Given the description of an element on the screen output the (x, y) to click on. 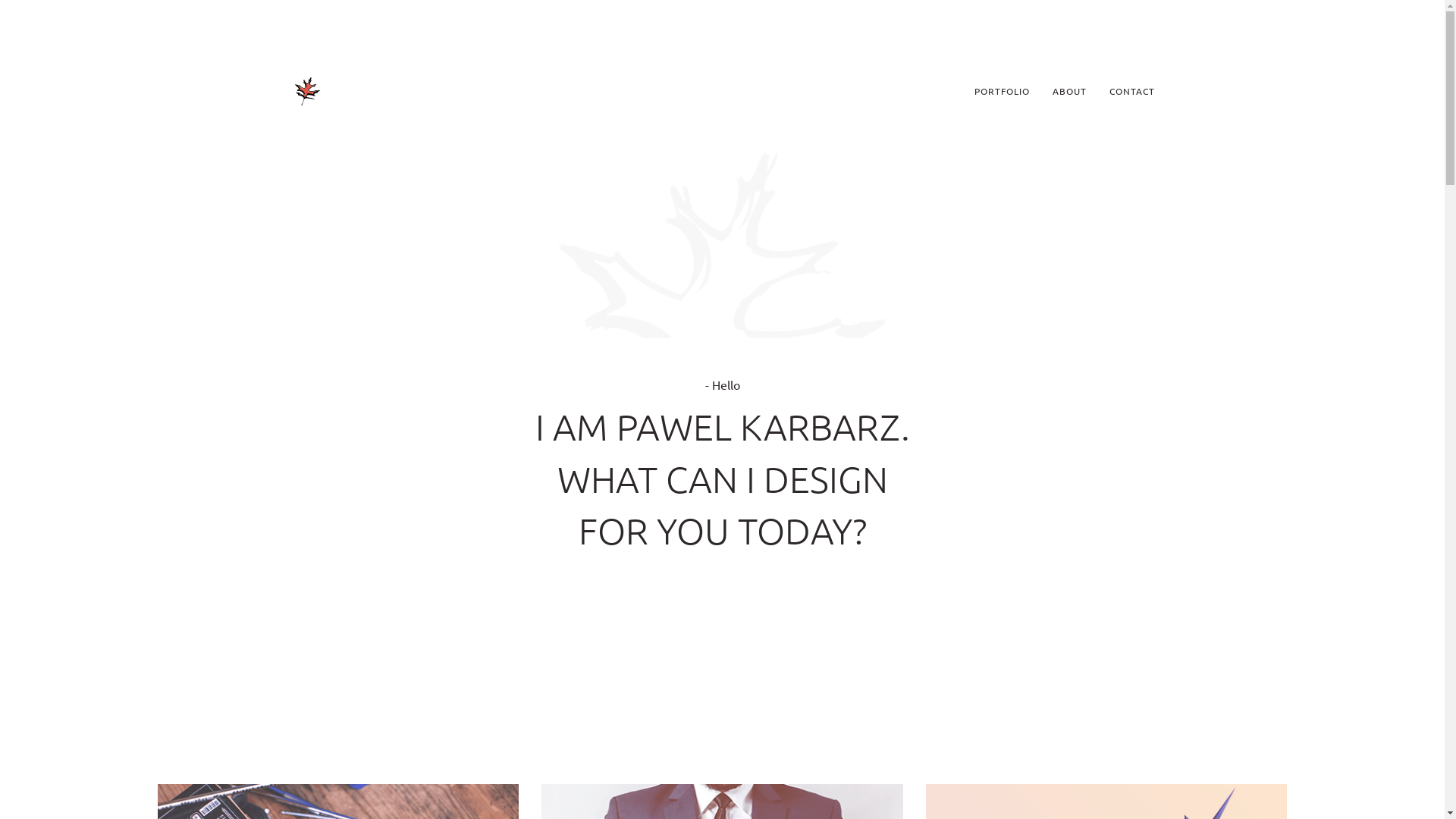
CONTACT Element type: text (1132, 90)
PORTFOLIO Element type: text (1002, 90)
ABOUT Element type: text (1068, 90)
